Given the description of an element on the screen output the (x, y) to click on. 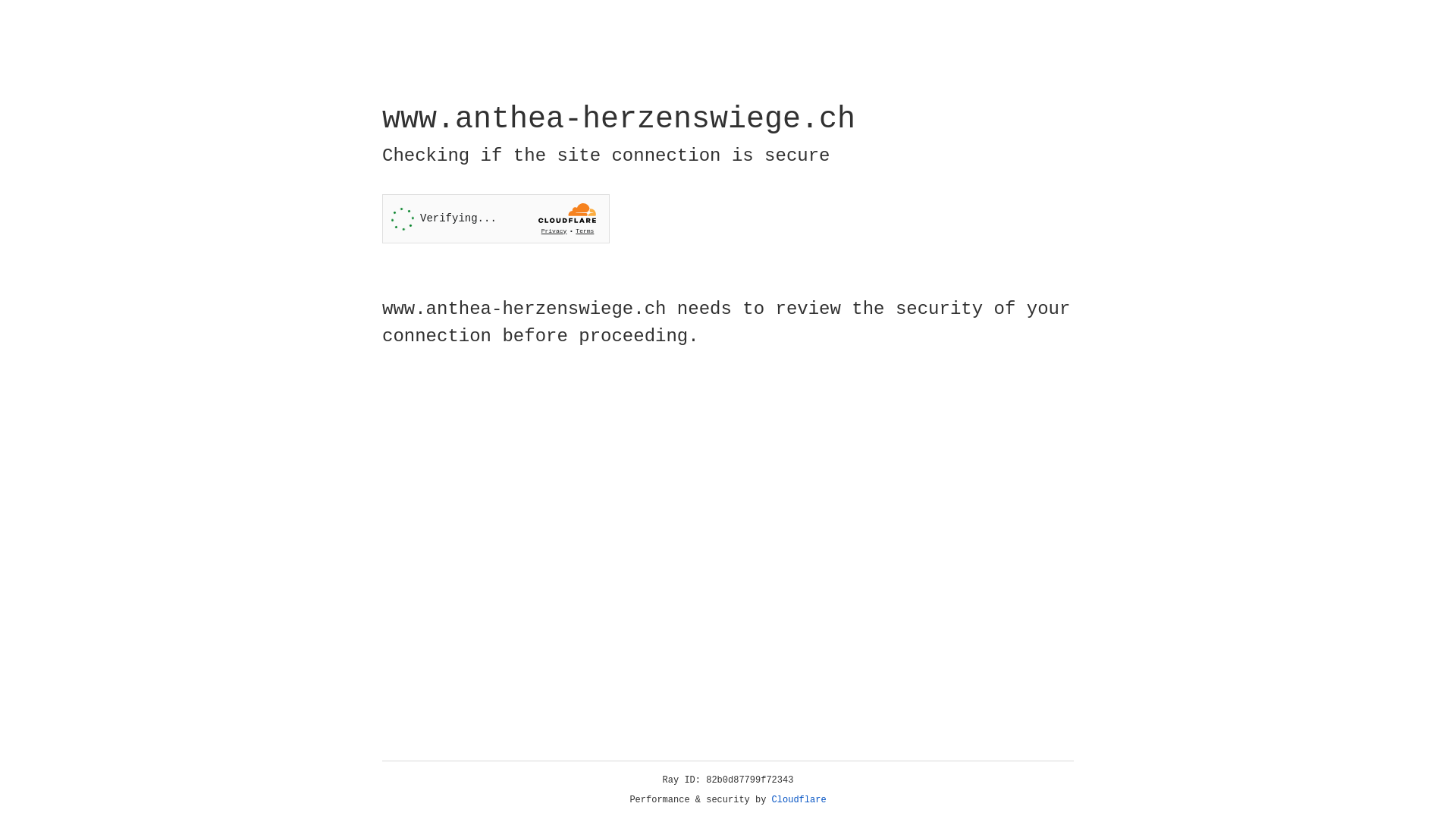
Cloudflare Element type: text (798, 799)
Widget containing a Cloudflare security challenge Element type: hover (495, 218)
